Given the description of an element on the screen output the (x, y) to click on. 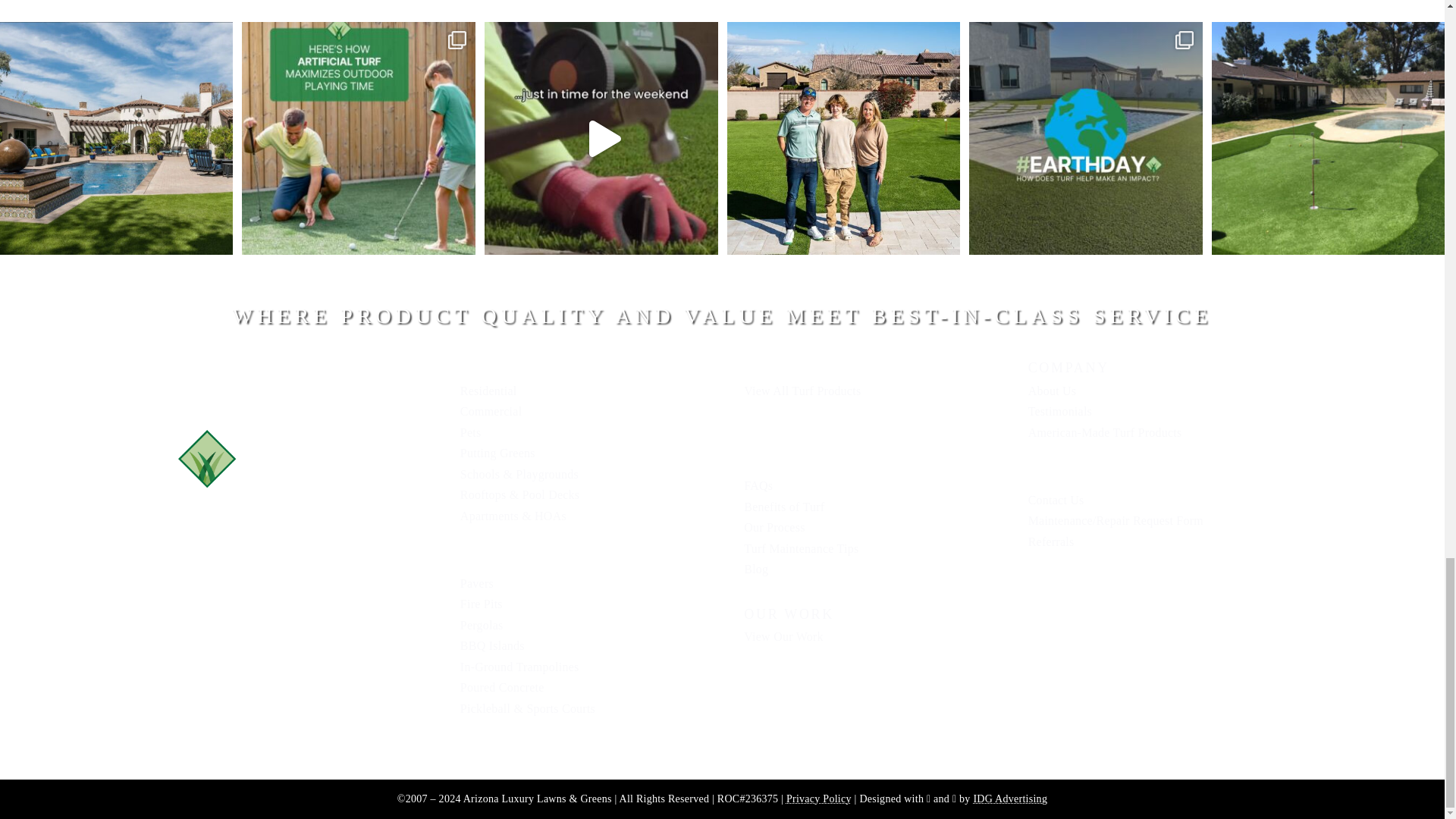
az-luxury-logo (296, 458)
